Given the description of an element on the screen output the (x, y) to click on. 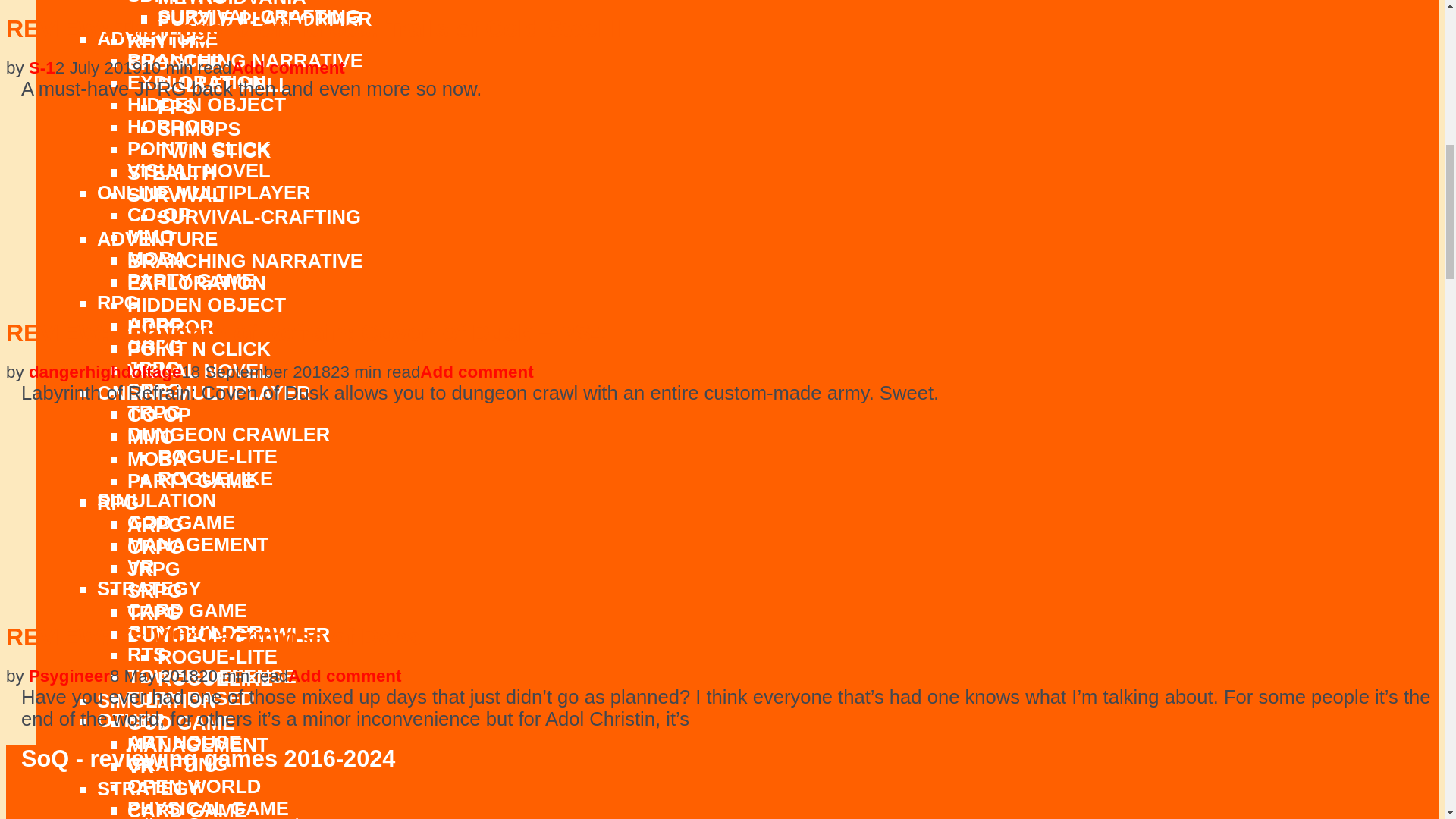
Join SoQ Steam Group (33, 816)
EXPLORATION (197, 82)
BRANCHING NARRATIVE (245, 60)
HORROR (171, 126)
SURVIVAL-CRAFTING (259, 16)
Join SoQ Discord (84, 816)
ADVENTURE (156, 38)
SURVIVAL (176, 2)
HIDDEN OBJECT (206, 104)
